Given the description of an element on the screen output the (x, y) to click on. 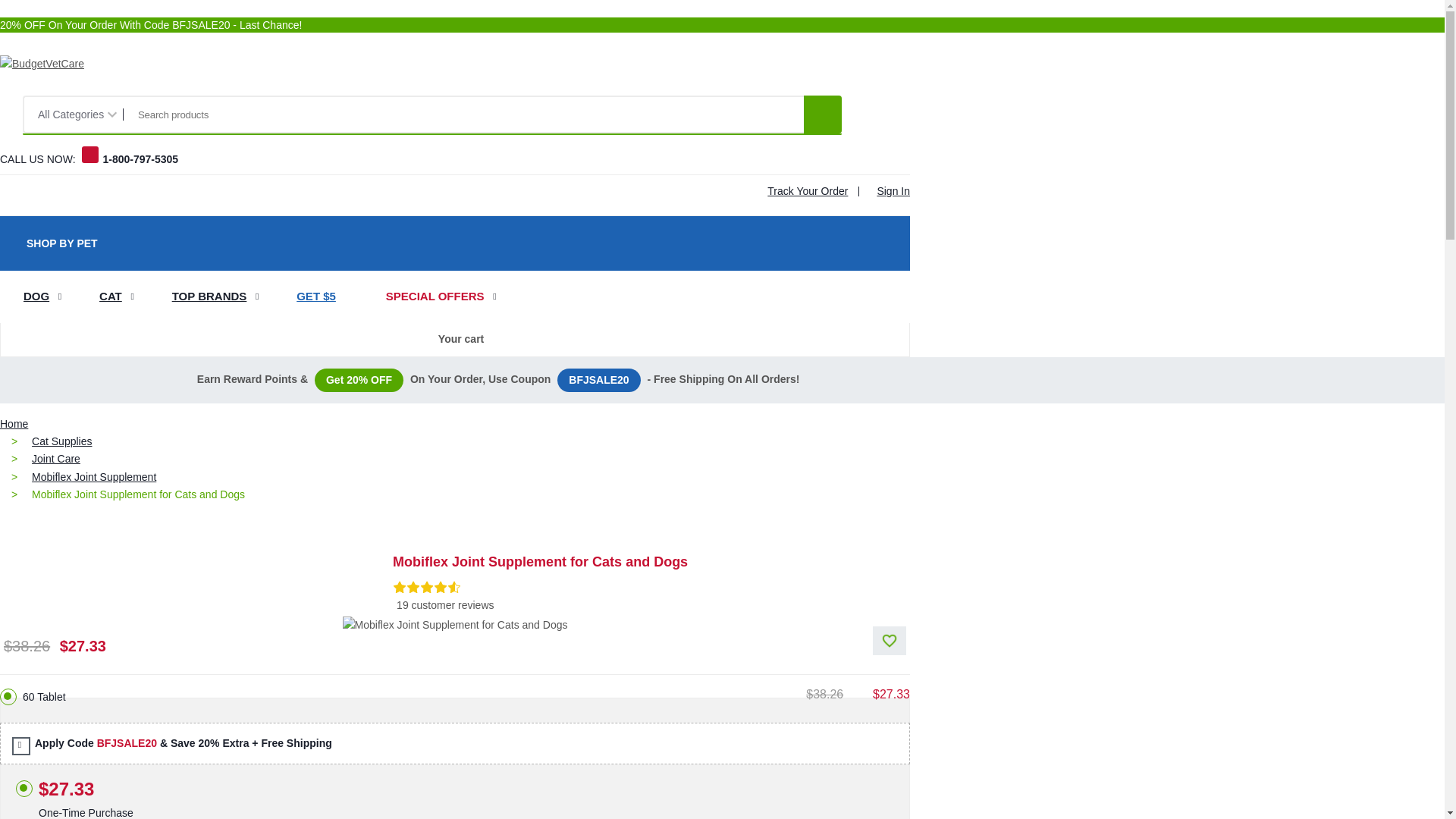
Track Your Order (804, 190)
Sign In (890, 190)
